Given the description of an element on the screen output the (x, y) to click on. 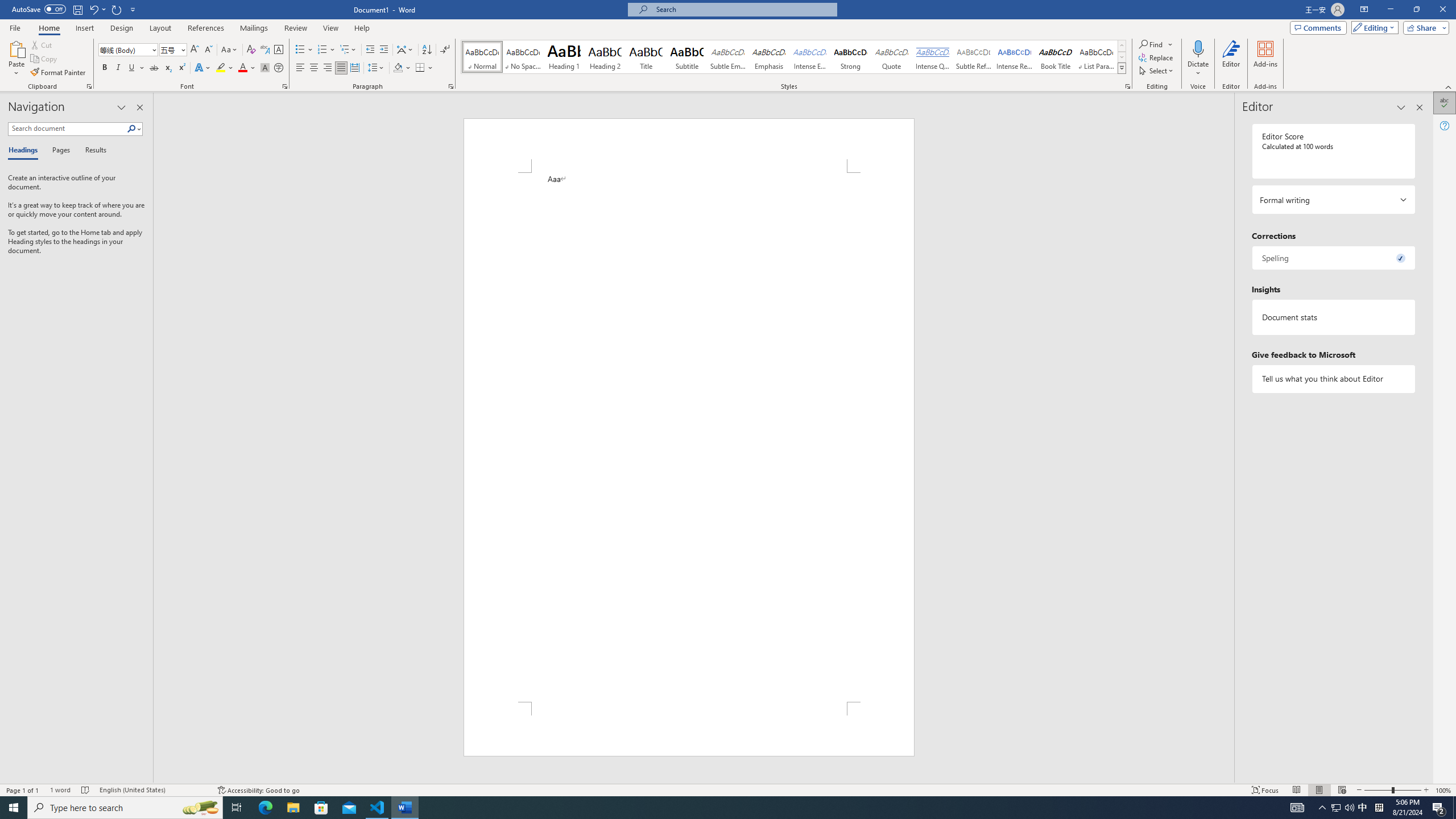
Strikethrough (154, 67)
Page Number Page 1 of 1 (22, 790)
Clear Formatting (250, 49)
Sort... (426, 49)
Asian Layout (405, 49)
Headings (25, 150)
